Given the description of an element on the screen output the (x, y) to click on. 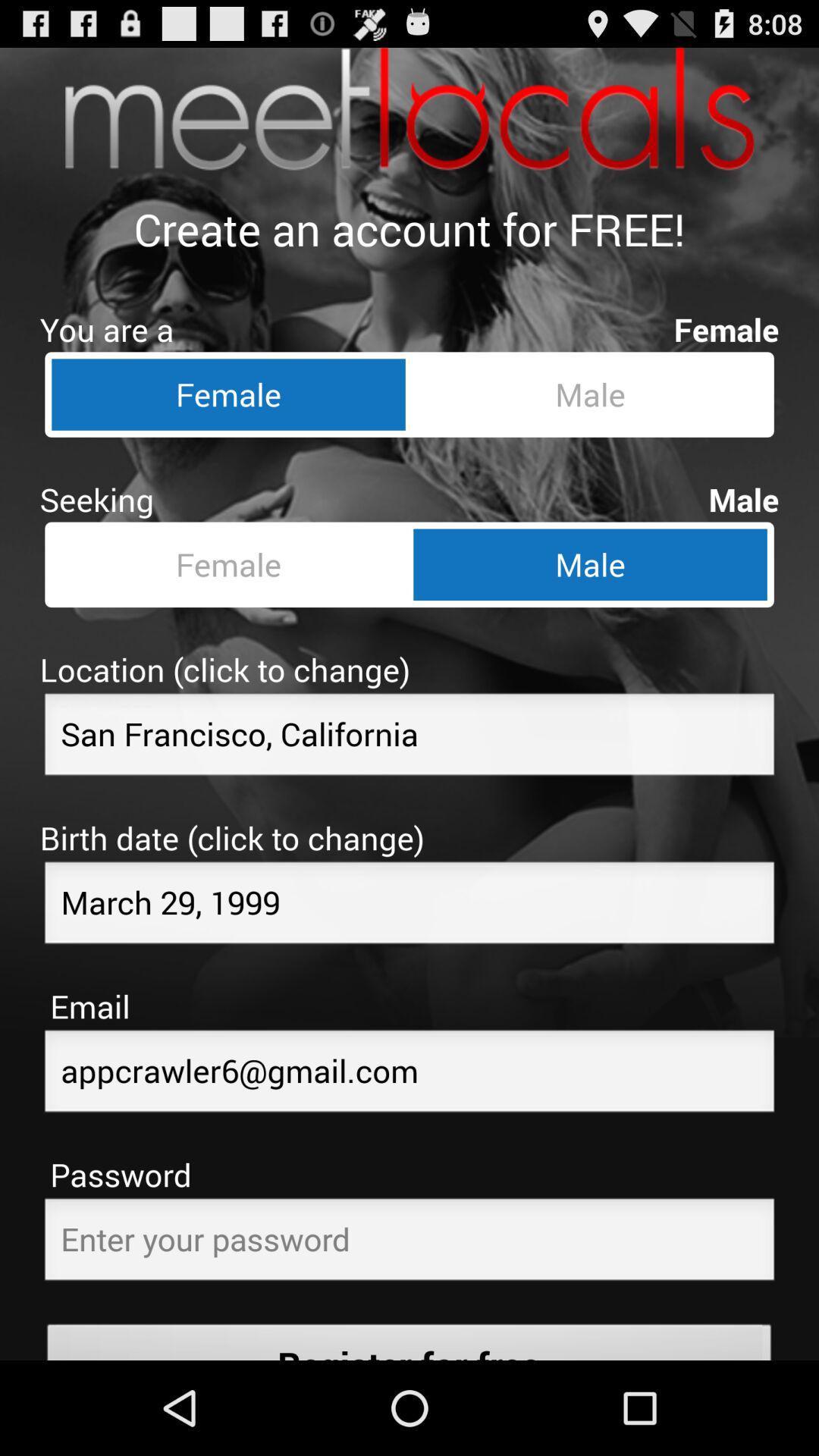
enter birth date (409, 906)
